Given the description of an element on the screen output the (x, y) to click on. 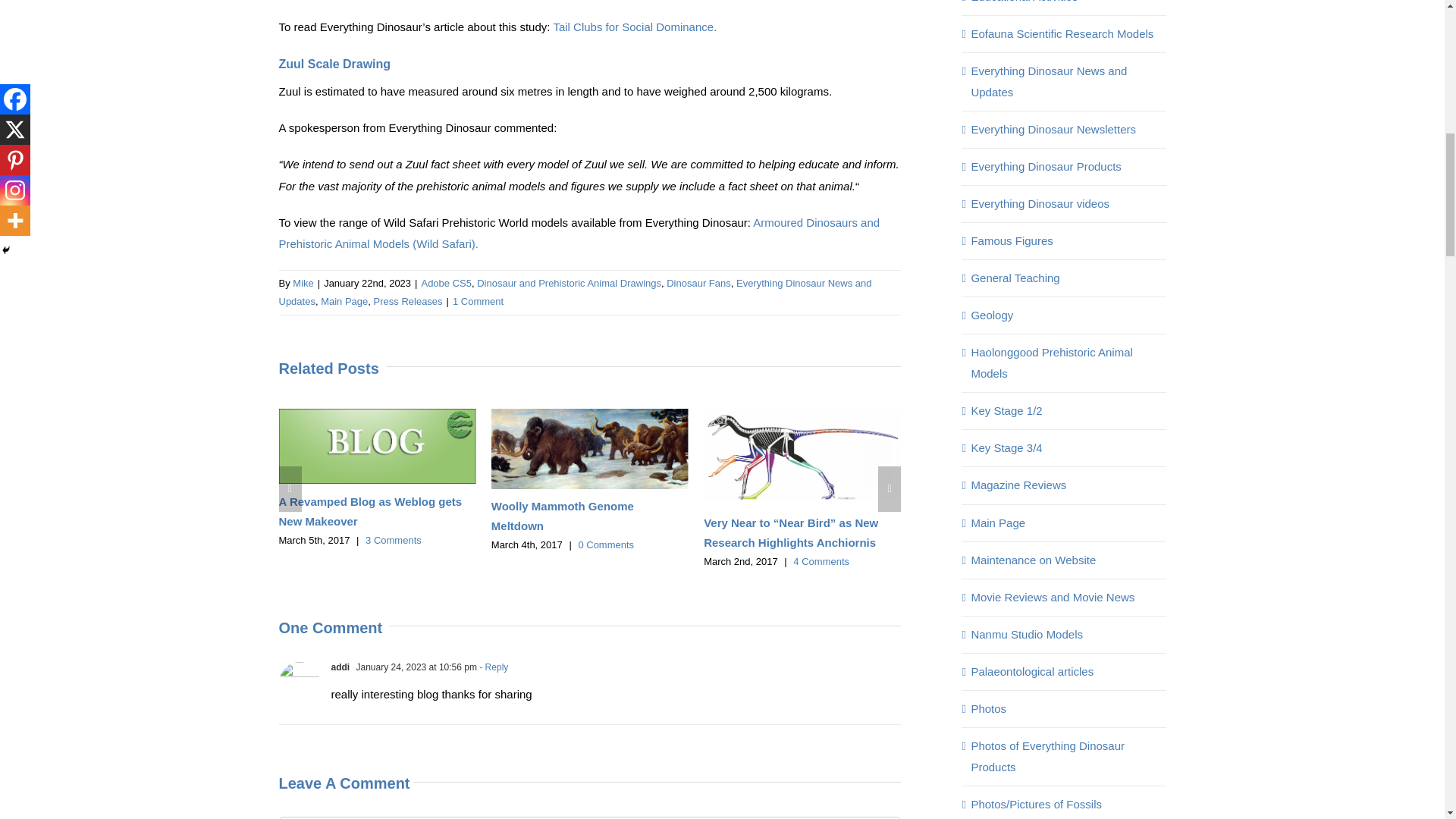
Everything Dinosaur News and Updates (575, 292)
Main Page (344, 301)
Dinosaur and Prehistoric Animal Drawings (569, 283)
Mike (302, 283)
Tail Clubs for Social Dominance. (634, 26)
1 Comment (477, 301)
Press Releases (408, 301)
Adobe CS5 (445, 283)
Dinosaur Fans (698, 283)
